Given the description of an element on the screen output the (x, y) to click on. 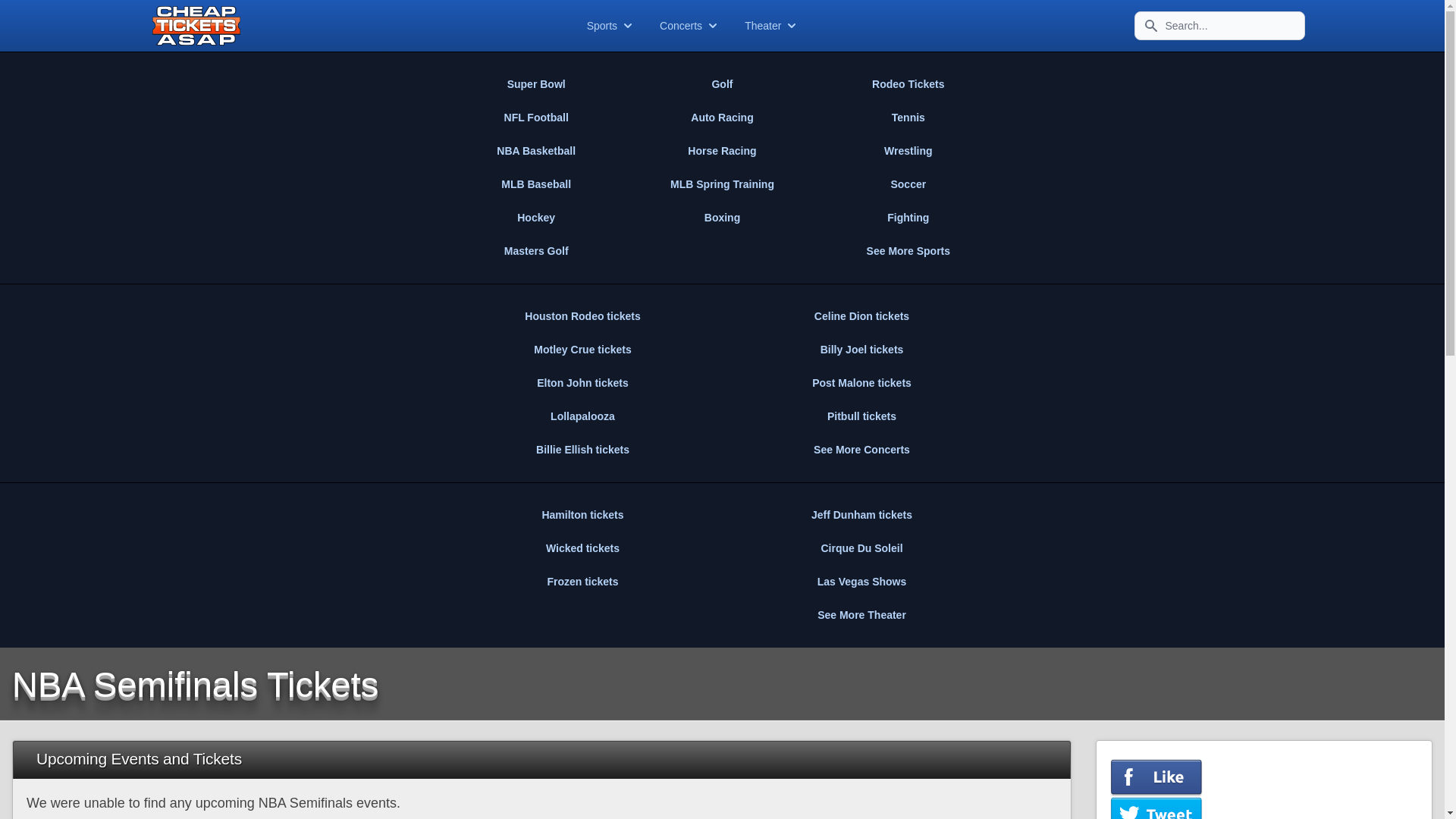
See More Sports (908, 250)
Cirque Du Soleil (861, 548)
Wrestling (908, 150)
Concerts (689, 25)
Las Vegas Shows (861, 581)
See More Theater (861, 614)
Celine Dion tickets (861, 315)
Motley Crue tickets (582, 349)
Fighting (908, 217)
NFL Football (535, 117)
